Given the description of an element on the screen output the (x, y) to click on. 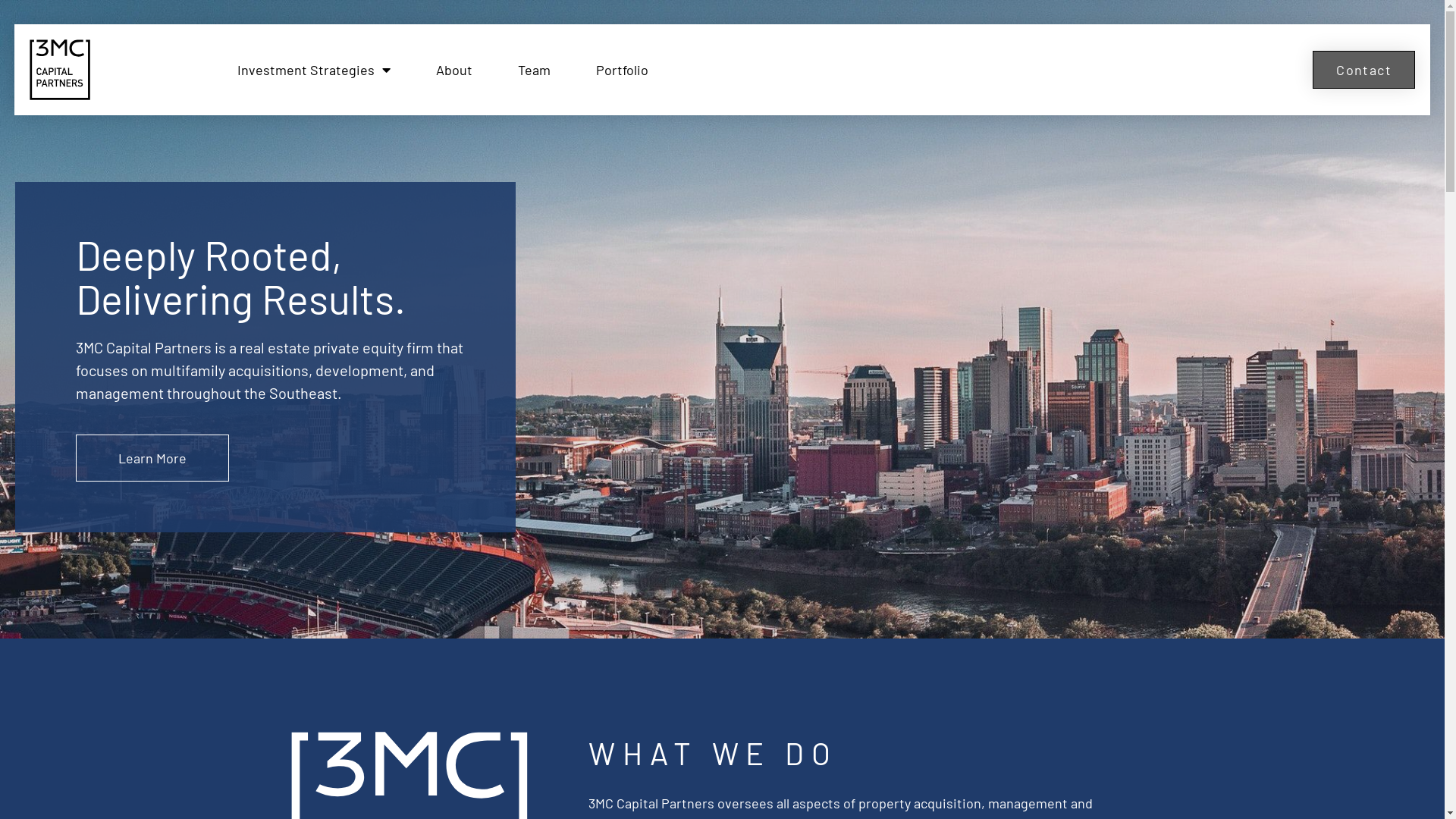
Team Element type: text (533, 69)
Portfolio Element type: text (622, 69)
Investment Strategies Element type: text (313, 69)
Contact Element type: text (1363, 69)
Learn More Element type: text (152, 457)
About Element type: text (454, 69)
